Given the description of an element on the screen output the (x, y) to click on. 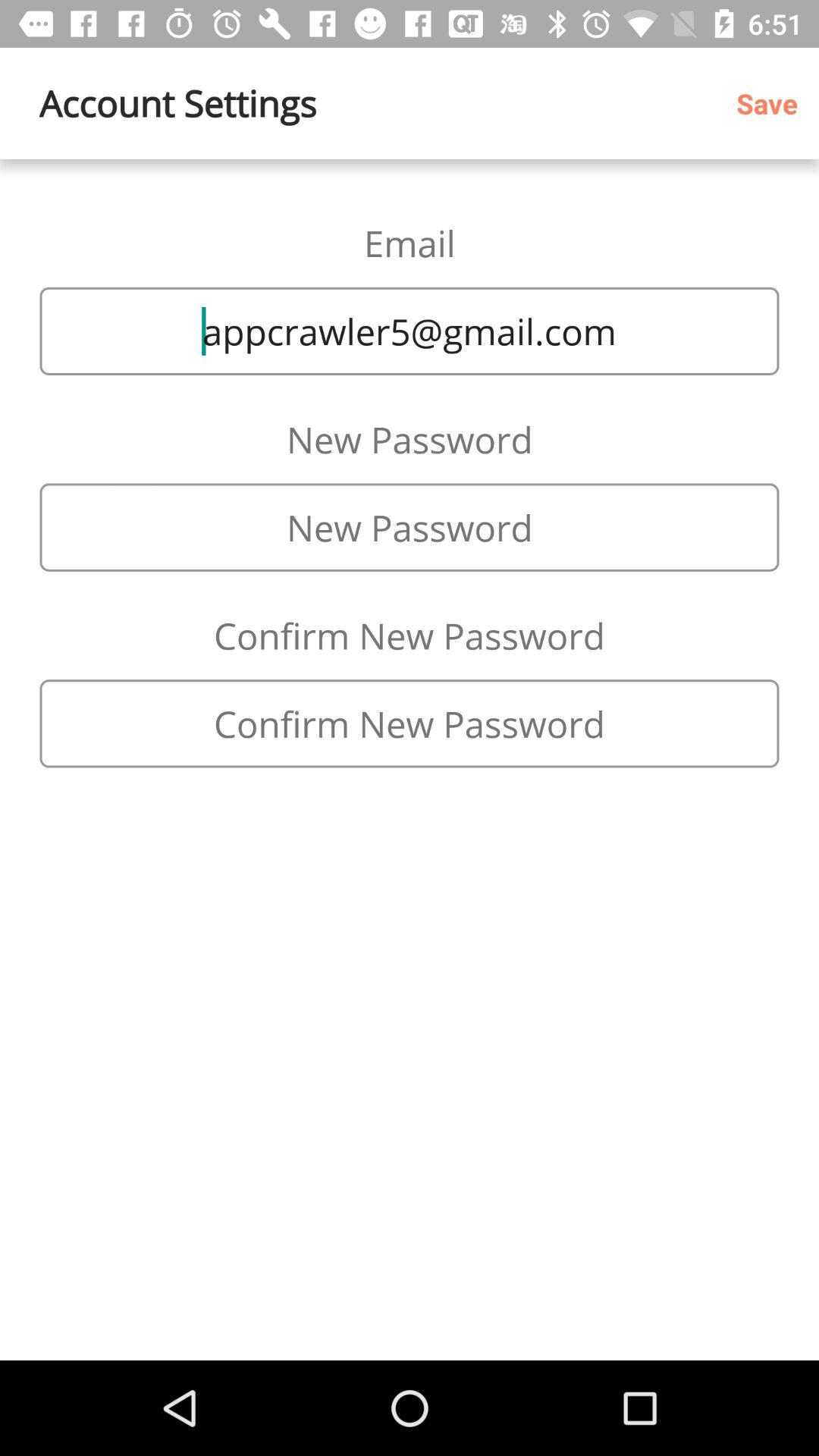
launch item below the email icon (409, 331)
